Given the description of an element on the screen output the (x, y) to click on. 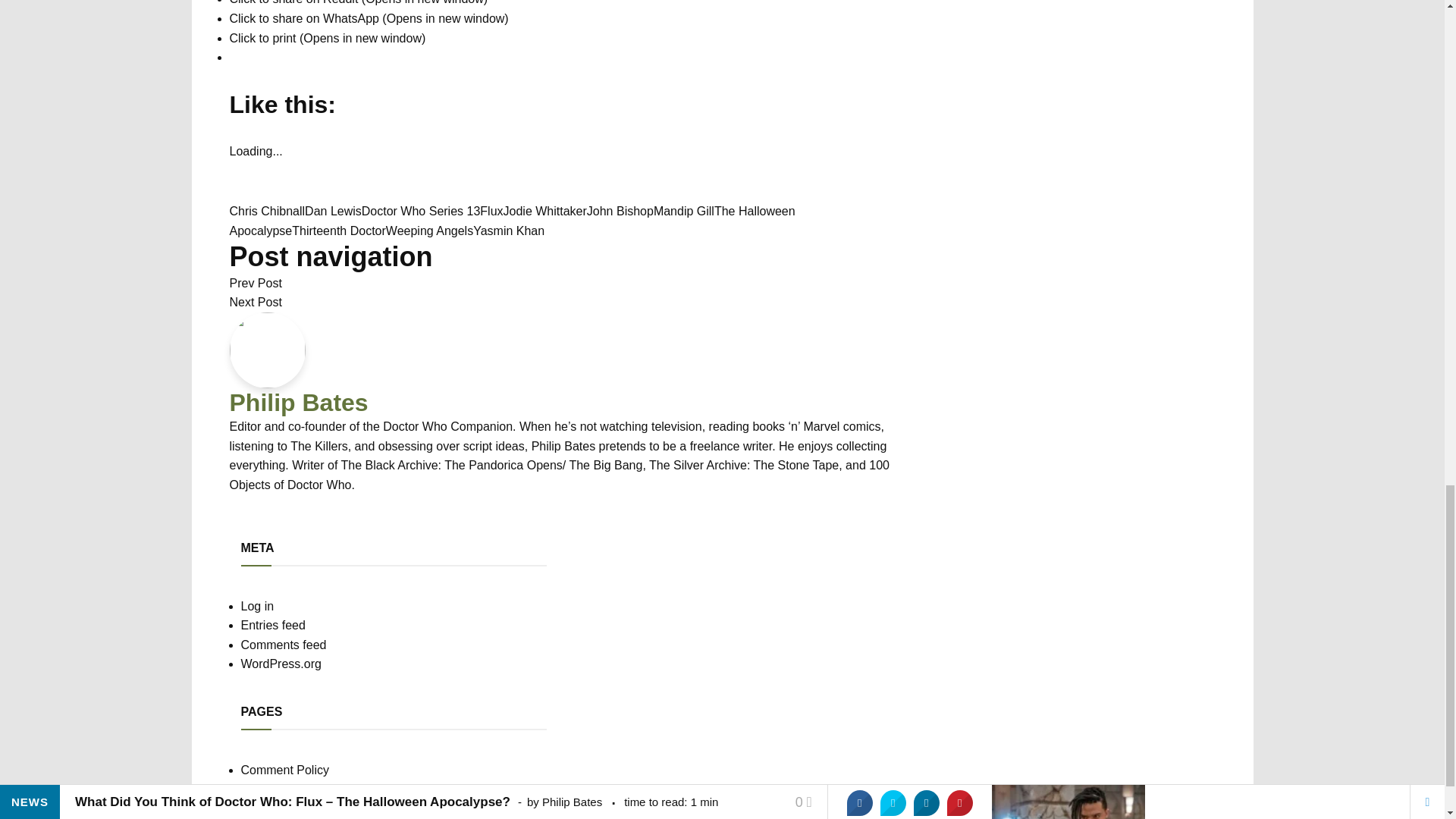
Click to share on Reddit (357, 2)
Click to print (326, 38)
Click to share on WhatsApp (368, 18)
